Given the description of an element on the screen output the (x, y) to click on. 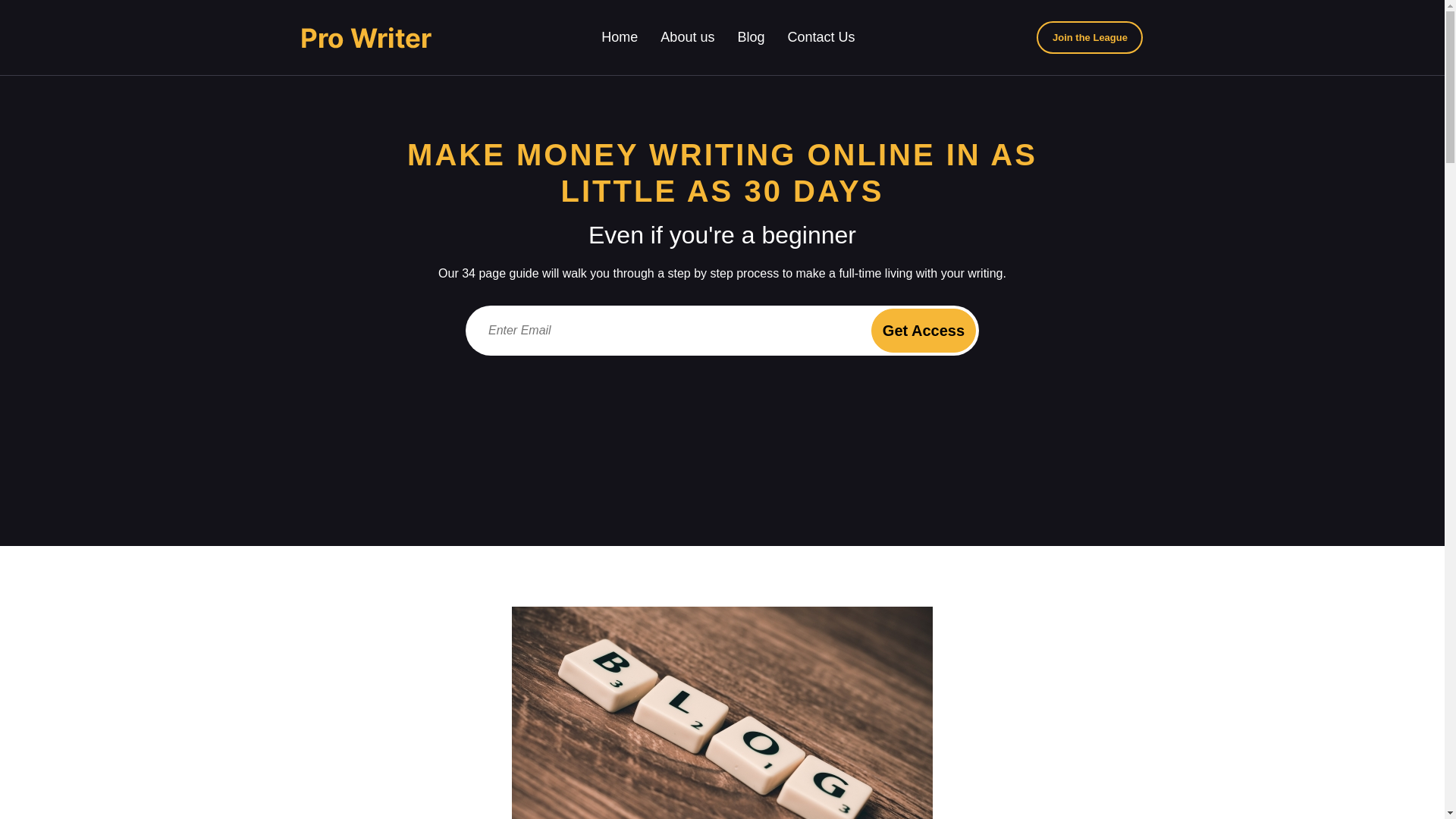
Home (619, 37)
Blog (750, 37)
Get Access (922, 330)
Contact Us (820, 37)
Get Access (922, 330)
About us (687, 37)
Join the League (1089, 37)
